Given the description of an element on the screen output the (x, y) to click on. 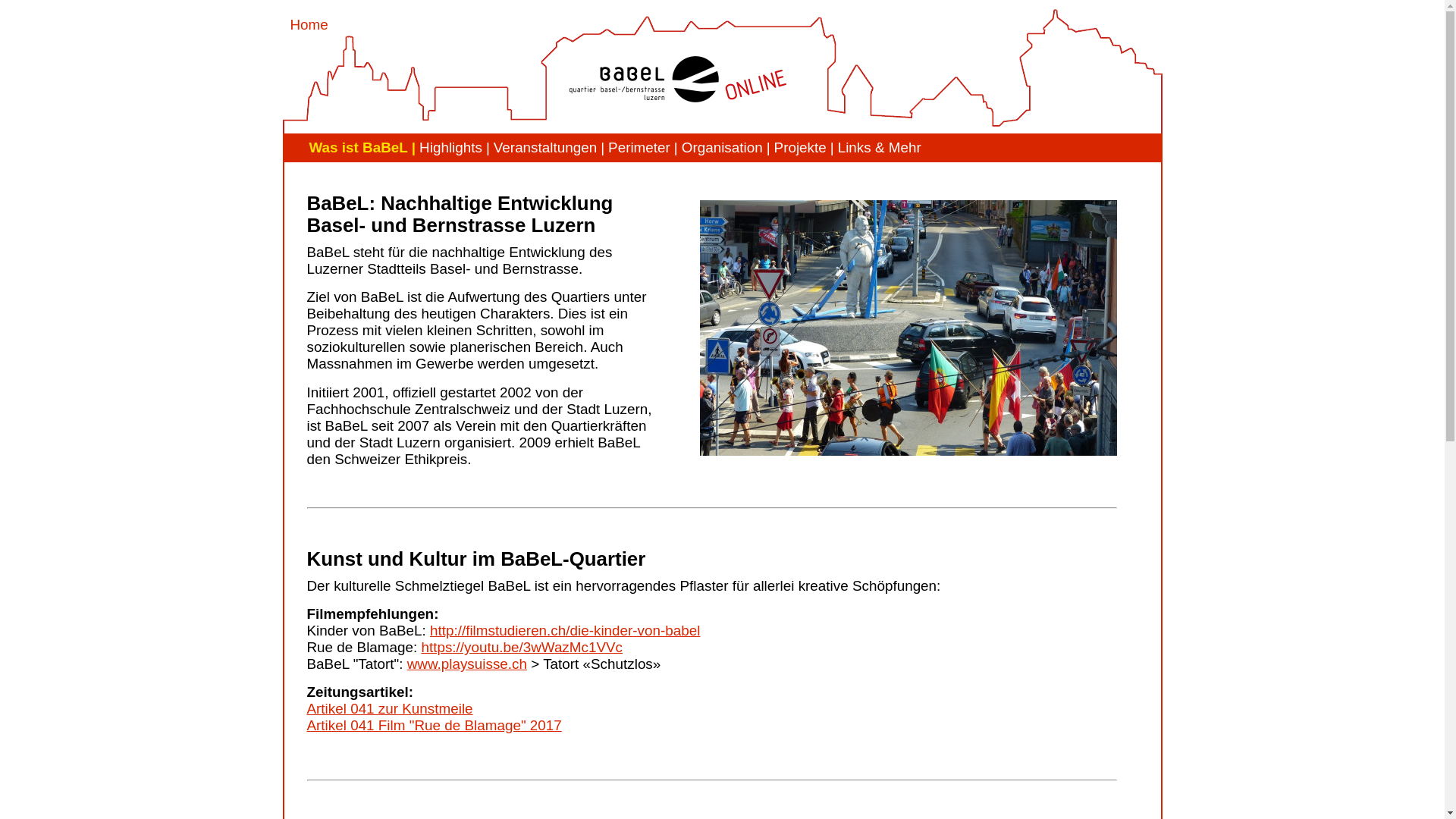
Veranstaltungen Element type: text (546, 147)
Perimeter Element type: text (640, 147)
Organisation Element type: text (723, 147)
Artikel 041 zur Kunstmeile Element type: text (389, 708)
Projekte Element type: text (802, 147)
Highlights Element type: text (452, 147)
www.playsuisse.ch Element type: text (467, 663)
Was ist BaBeL Element type: text (359, 147)
Home Element type: text (308, 24)
https://youtu.be/3wWazMc1VVc Element type: text (521, 647)
http://filmstudieren.ch/die-kinder-von-babel Element type: text (564, 630)
Artikel 041 Film "Rue de Blamage" 2017 Element type: text (433, 725)
Links & Mehr Element type: text (877, 147)
